Given the description of an element on the screen output the (x, y) to click on. 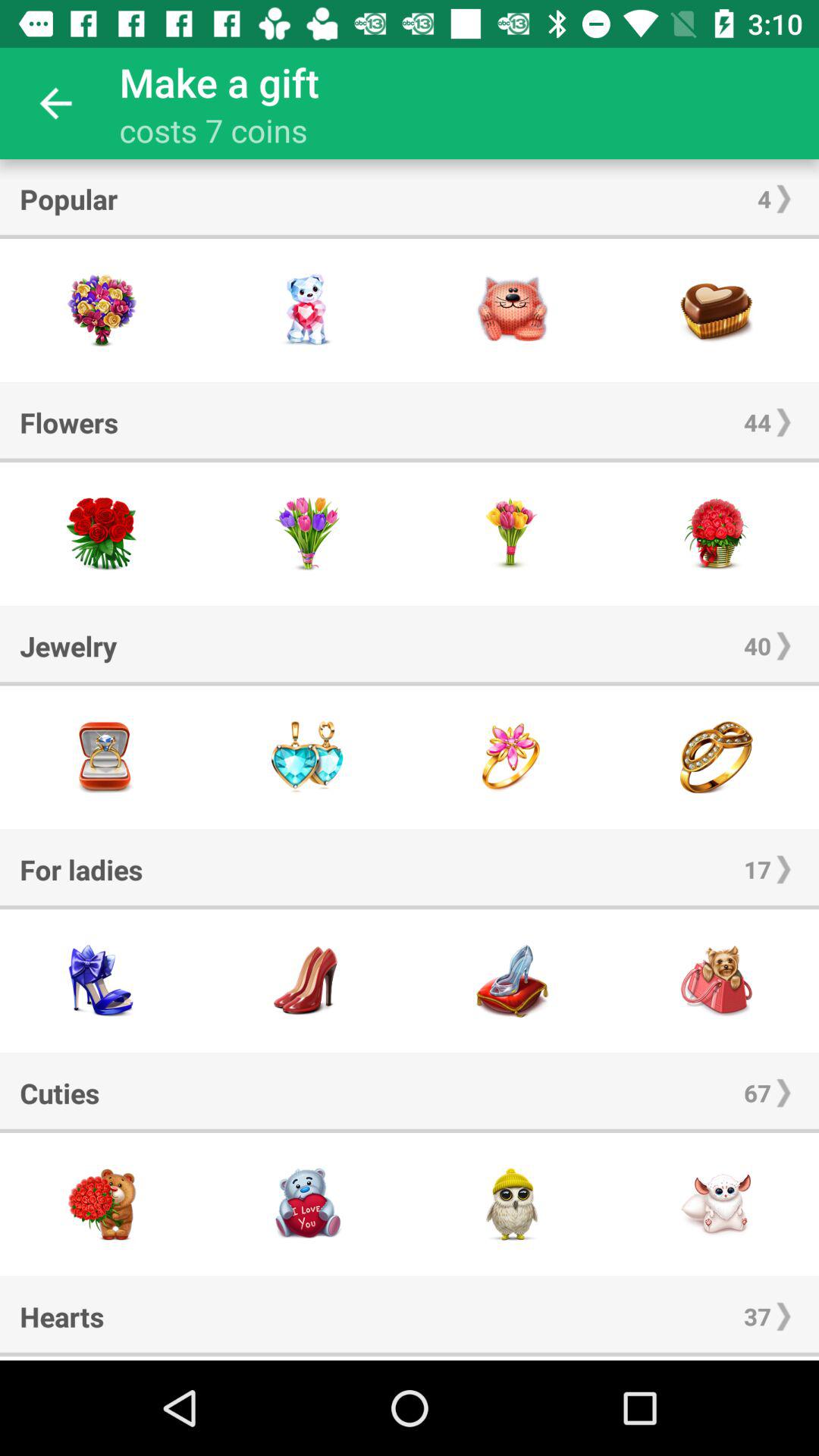
swipe until the for ladies (80, 869)
